Given the description of an element on the screen output the (x, y) to click on. 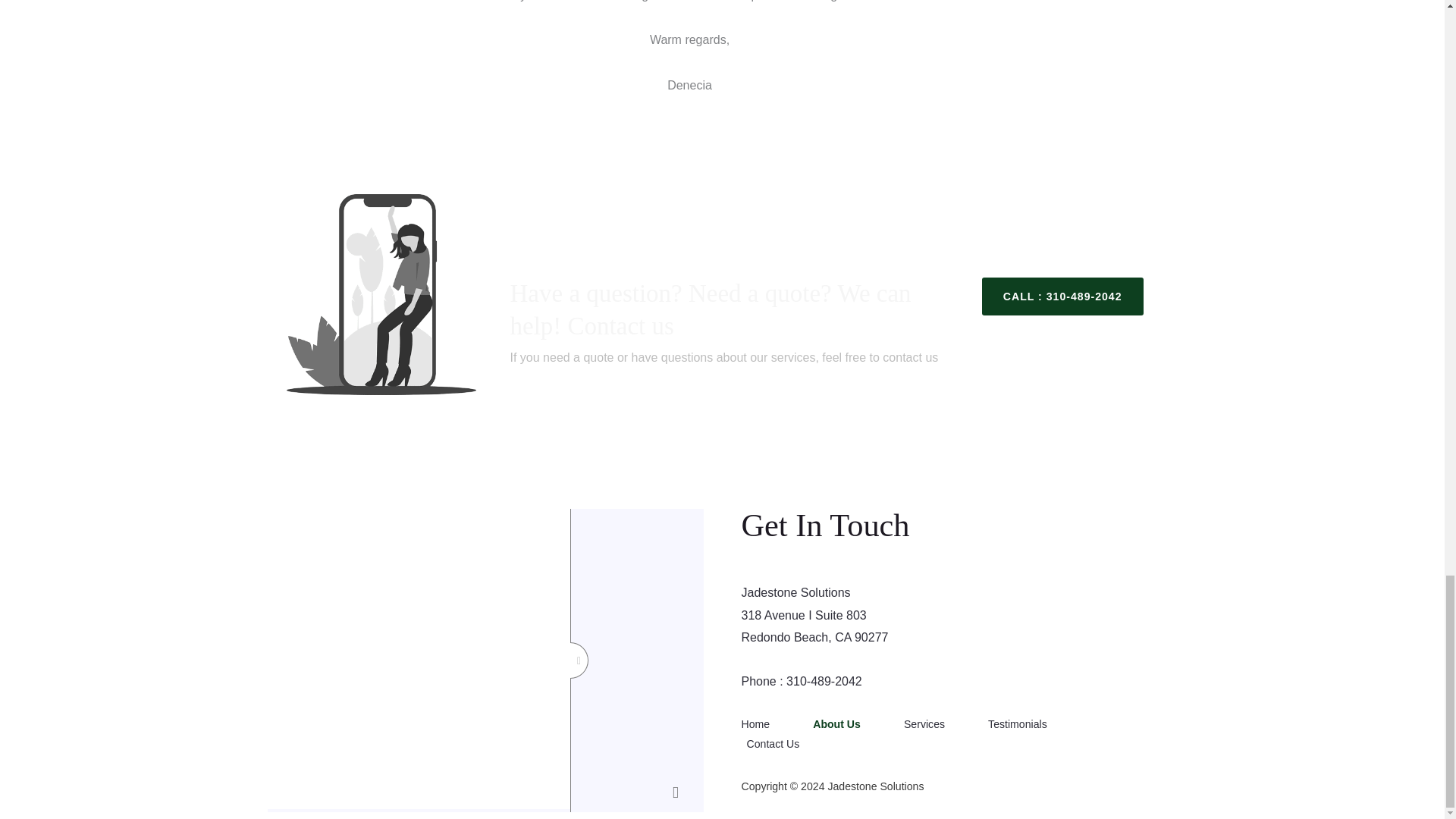
Services (940, 723)
Contact Us (789, 743)
Testimonials (1033, 723)
CALL : 310-489-2042 (1061, 296)
Home (774, 723)
310-489-2042 (823, 680)
About Us (853, 723)
